Given the description of an element on the screen output the (x, y) to click on. 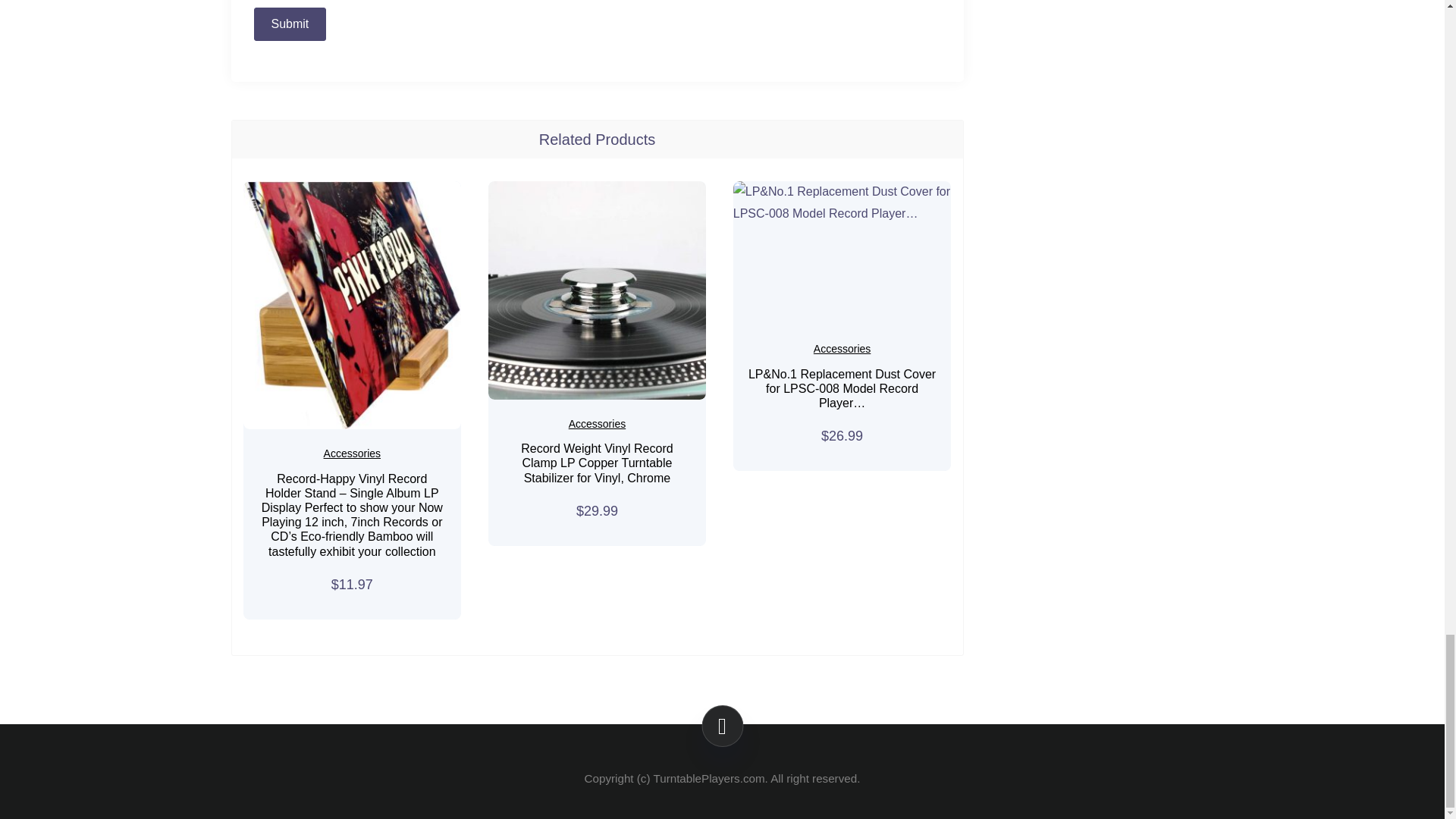
Accessories (351, 453)
Accessories (841, 348)
Submit (289, 23)
Accessories (597, 423)
Submit (289, 23)
